Given the description of an element on the screen output the (x, y) to click on. 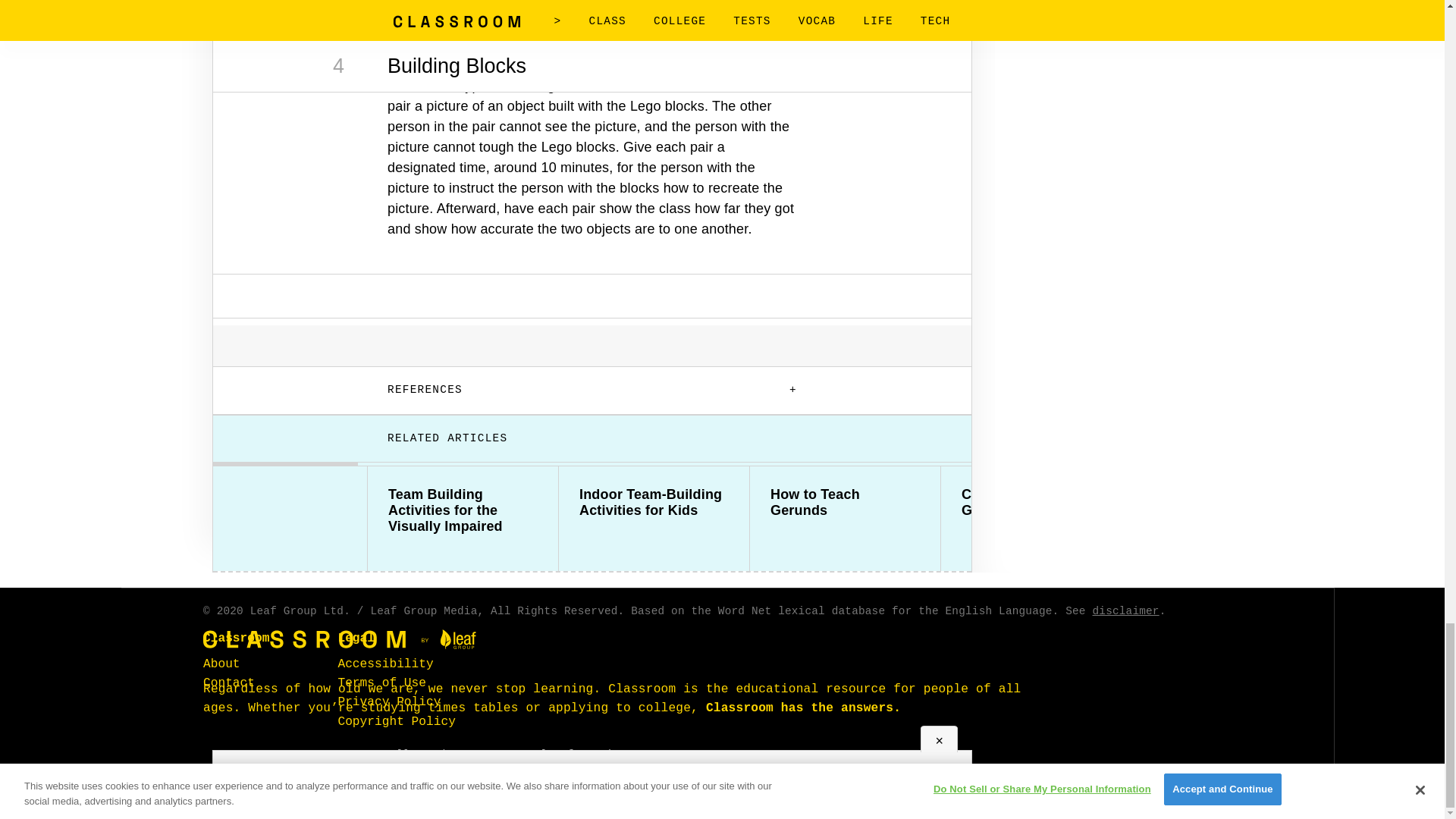
About (221, 663)
How to Teach Gerunds (844, 502)
Accessibility (384, 663)
Support Group Games (1227, 494)
Church Banquet Games (1035, 502)
Privacy Policy (389, 702)
Indoor Team-Building Activities for Kids (654, 502)
Contact (228, 683)
Copyright Policy (395, 721)
Team Building Activities for the Visually Impaired (462, 510)
Terms of Use (381, 683)
